Given the description of an element on the screen output the (x, y) to click on. 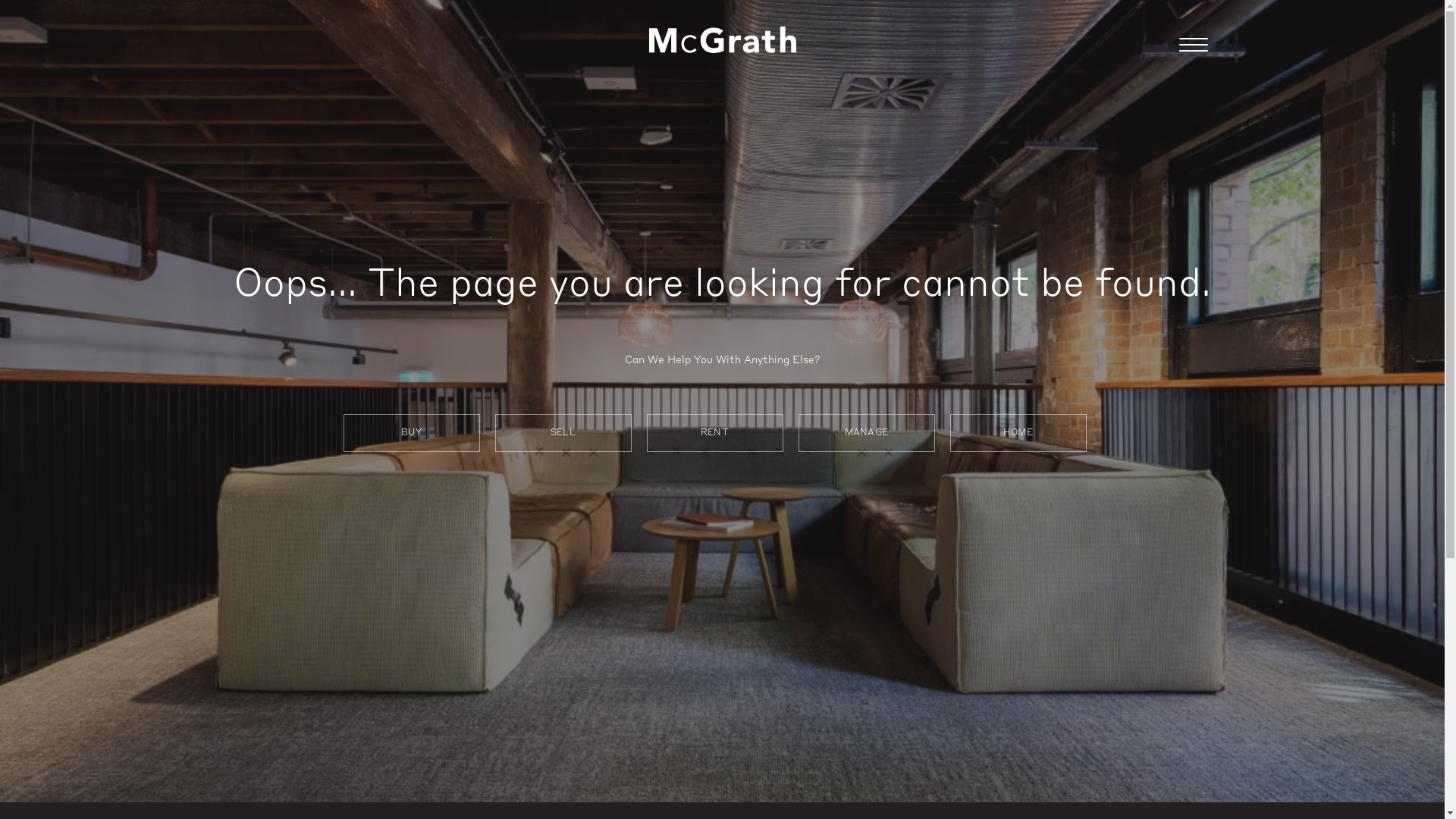
SELL Element type: text (562, 432)
MANAGE Element type: text (865, 432)
BUY Element type: text (410, 432)
RENT Element type: text (714, 432)
HOME Element type: text (1017, 432)
